Given the description of an element on the screen output the (x, y) to click on. 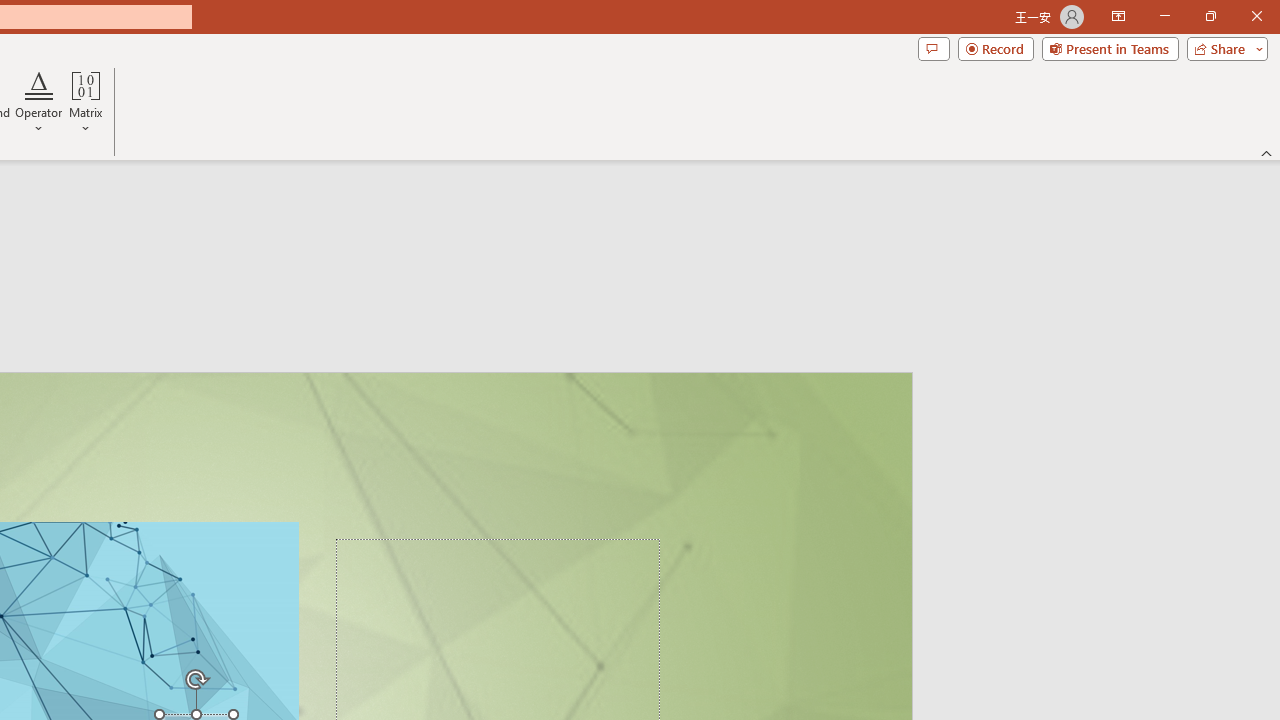
Operator (38, 102)
Matrix (86, 102)
